Given the description of an element on the screen output the (x, y) to click on. 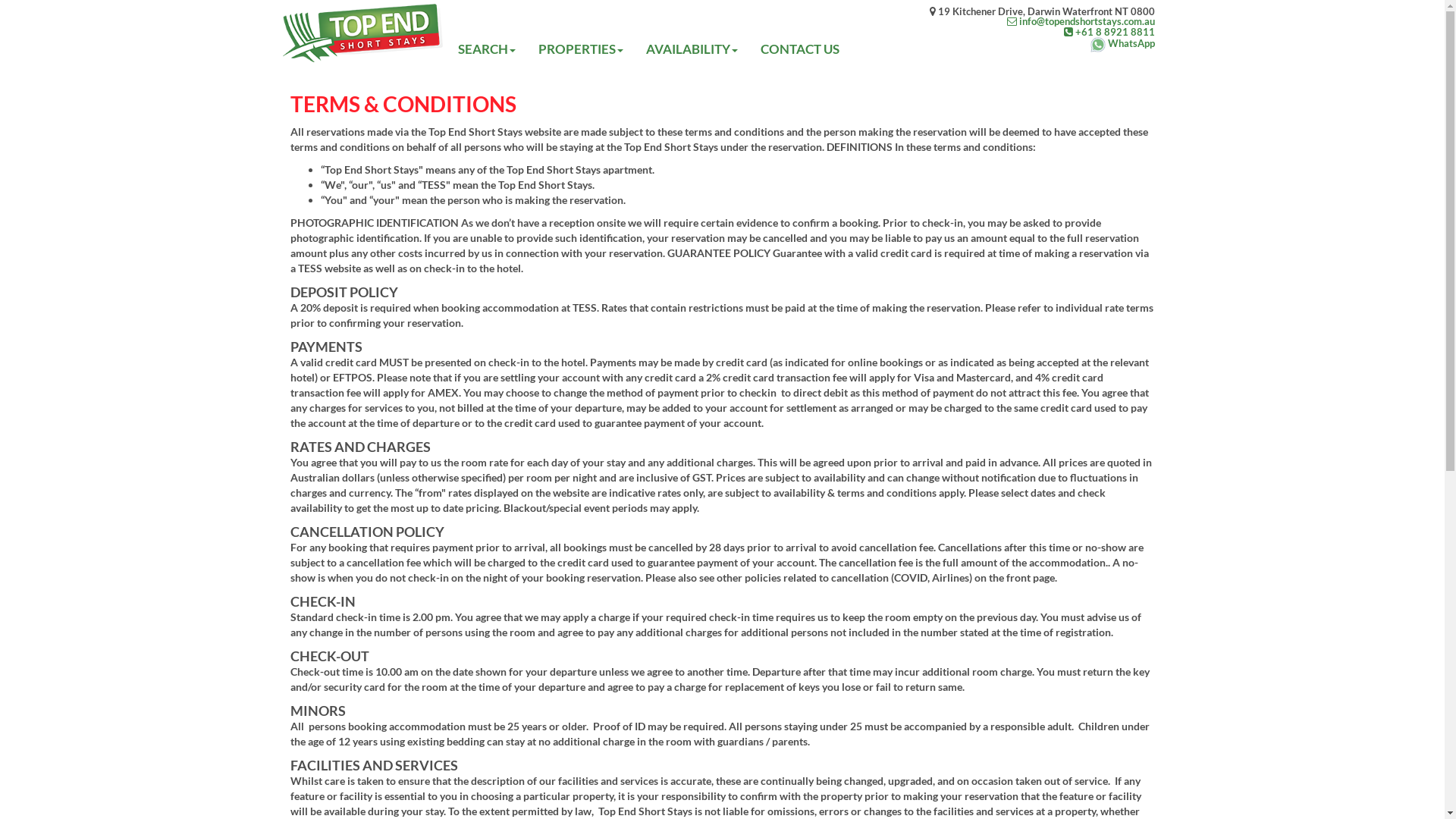
info@topendshortstays.com.au Element type: text (1041, 21)
CONTACT US Element type: text (799, 49)
WhatsApp Element type: text (1041, 44)
PROPERTIES Element type: text (580, 49)
AVAILABILITY Element type: text (691, 49)
SEARCH Element type: text (486, 49)
+61 8 8921 8811 Element type: text (1041, 32)
